Given the description of an element on the screen output the (x, y) to click on. 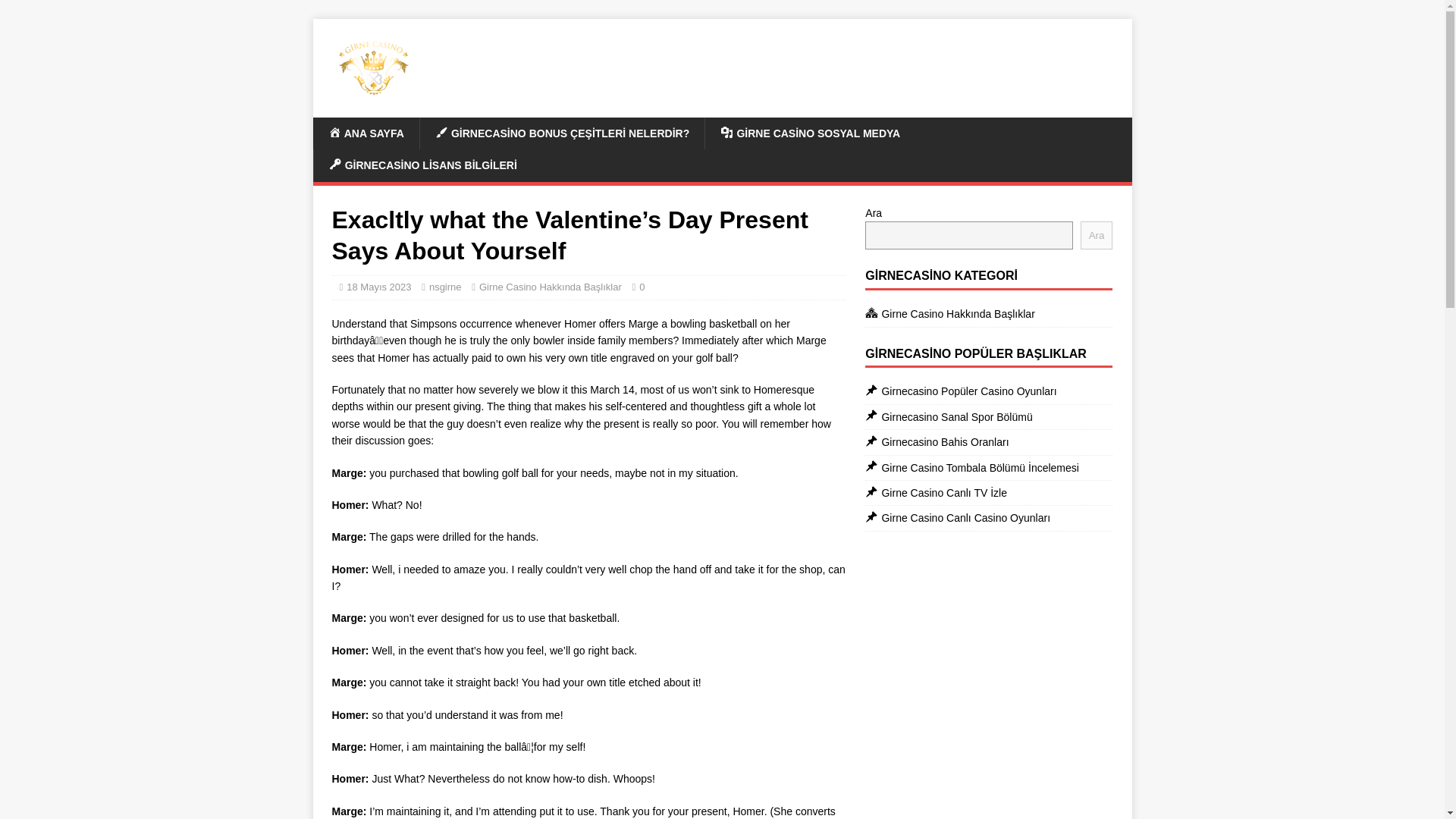
nsgirne (445, 286)
Ara (1096, 235)
GIRNECASINO LISANS BILGILERI (422, 164)
GIRNE CASINO SOSYAL MEDYA (809, 133)
ANA SAYFA (366, 133)
